Given the description of an element on the screen output the (x, y) to click on. 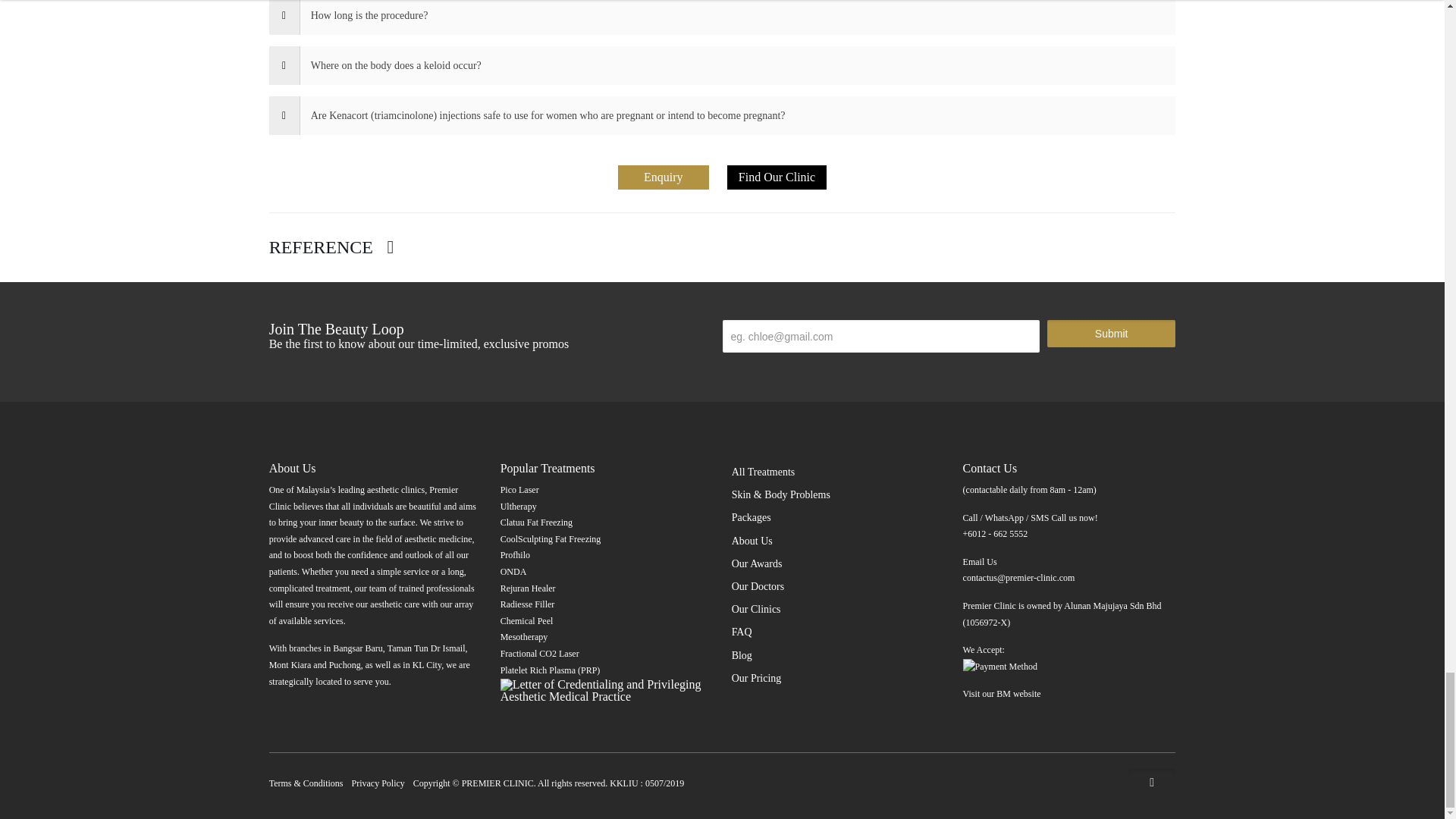
Submit (1110, 333)
